Given the description of an element on the screen output the (x, y) to click on. 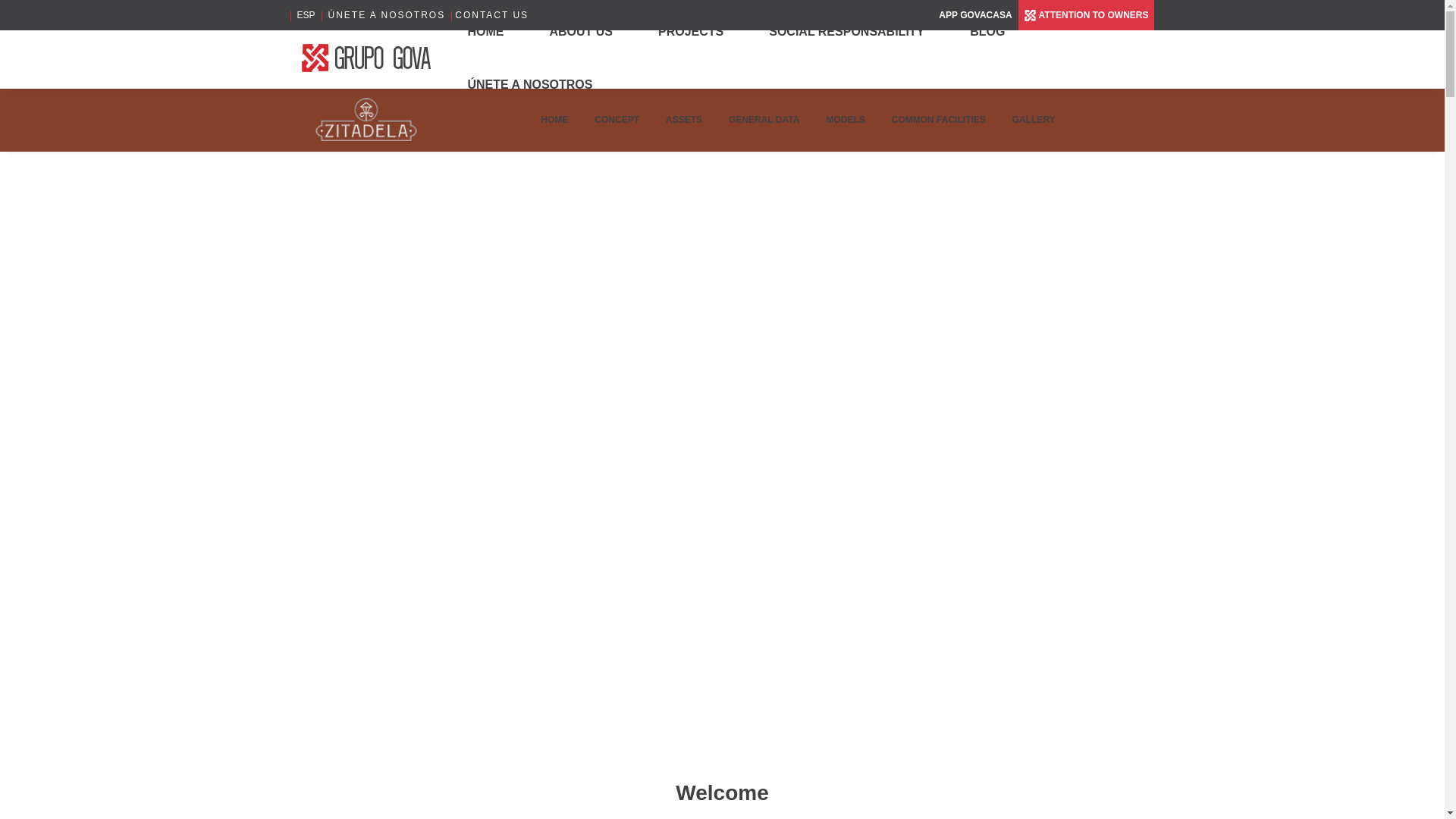
PROJECTS (690, 30)
CONTACT US (491, 14)
ABOUT US (580, 30)
Grupo Gova (367, 57)
ZITADELA (365, 118)
ESP (306, 14)
APP GOVACASA (975, 14)
ATTENTION TO OWNERS (1086, 14)
